Given the description of an element on the screen output the (x, y) to click on. 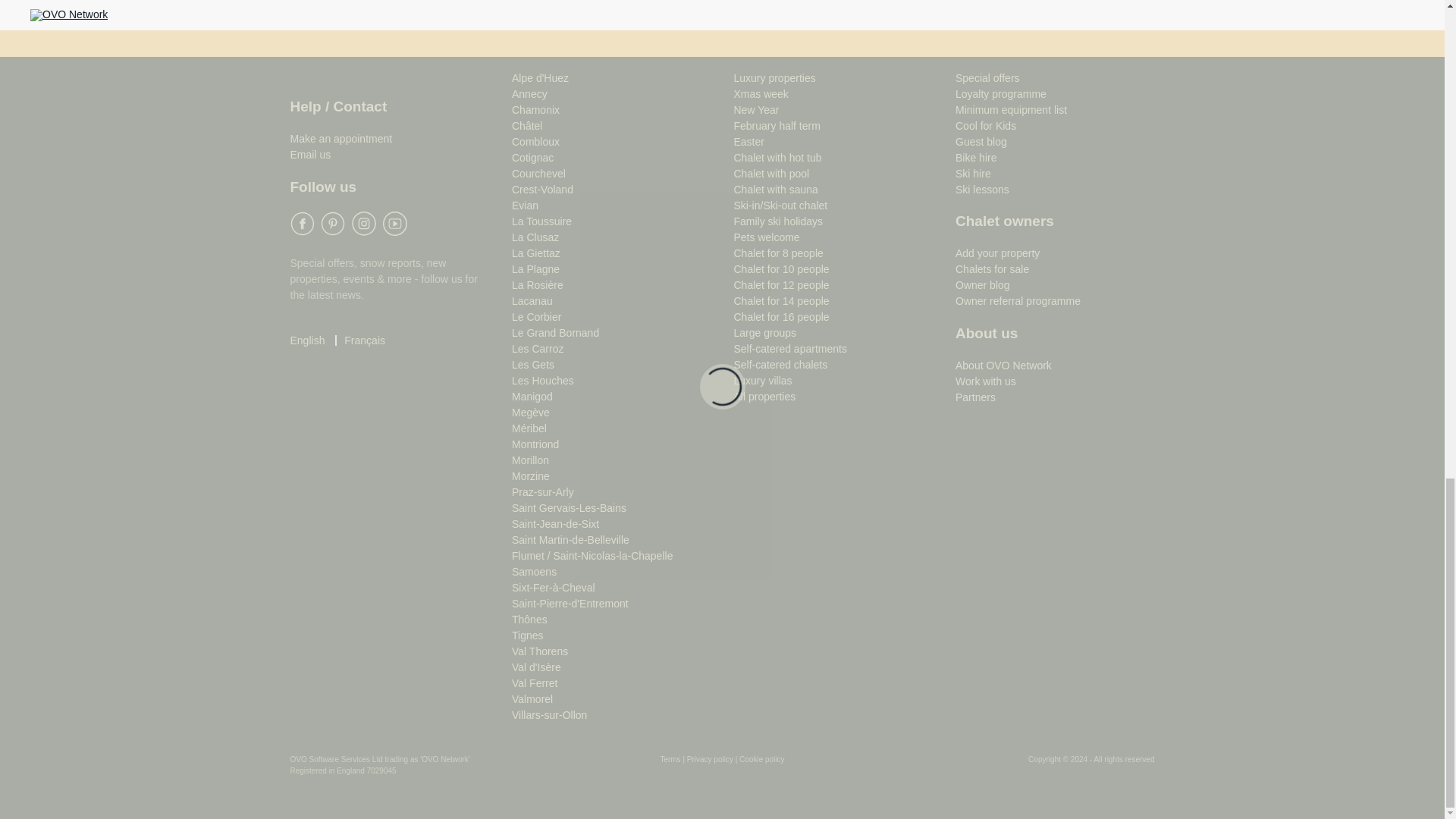
Saint Gervais-Les-Bains (569, 508)
Evian (525, 205)
Les Carroz (537, 348)
Le Corbier (536, 316)
Cotignac (532, 157)
Le Grand Bornand (555, 332)
Alpe d'Huez (540, 78)
Morzine (531, 476)
La Clusaz (535, 236)
Manigod (532, 396)
Lacanau (532, 300)
Montriond (535, 444)
English (306, 340)
Make an appointment (340, 138)
Praz-sur-Arly (542, 491)
